Given the description of an element on the screen output the (x, y) to click on. 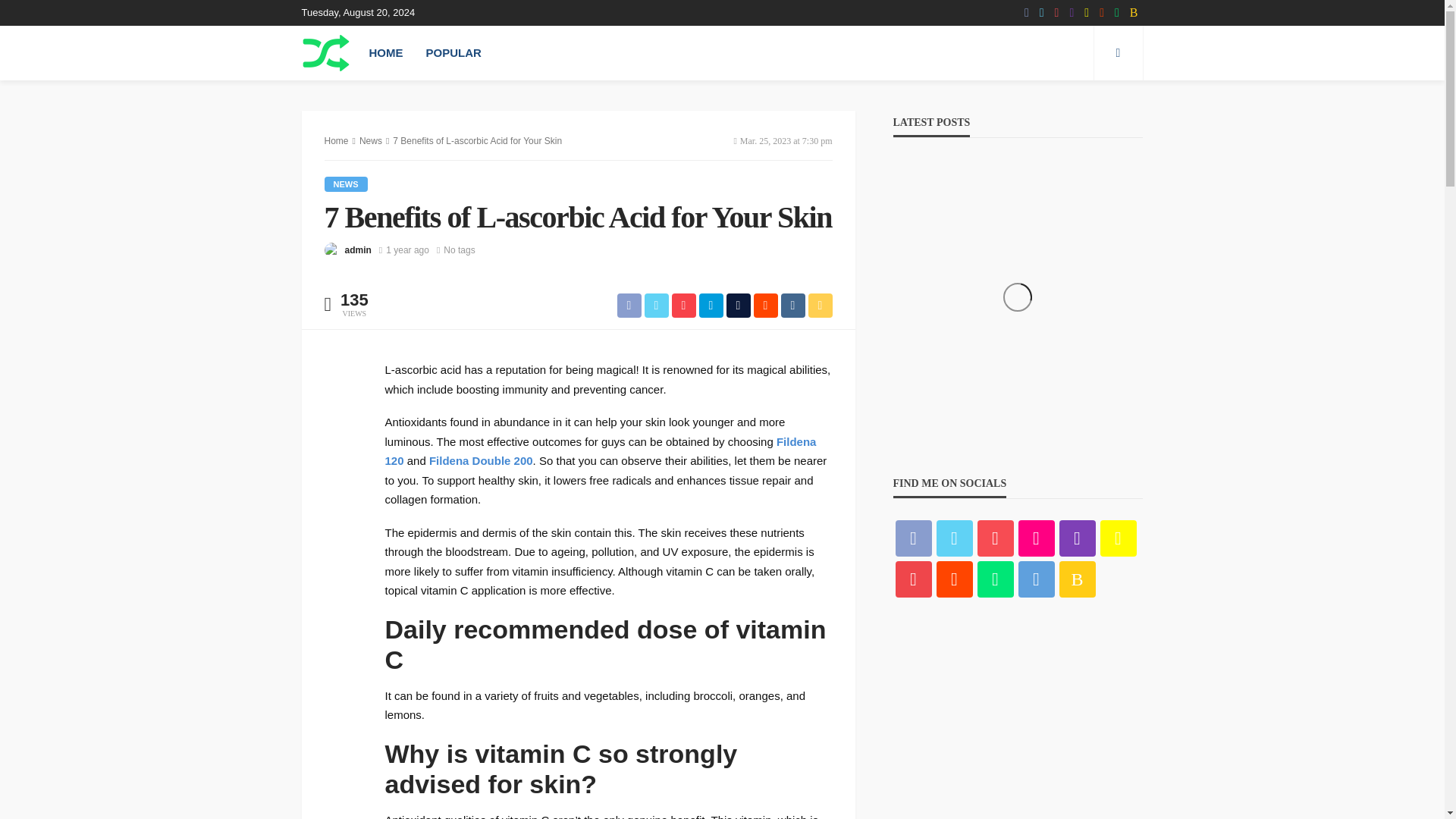
News (346, 183)
Home (336, 140)
InternetShuffle - See The Shuffle On The Internet (325, 52)
HOME (386, 52)
POPULAR (452, 52)
NEWS (346, 183)
admin (357, 249)
News (370, 140)
